Given the description of an element on the screen output the (x, y) to click on. 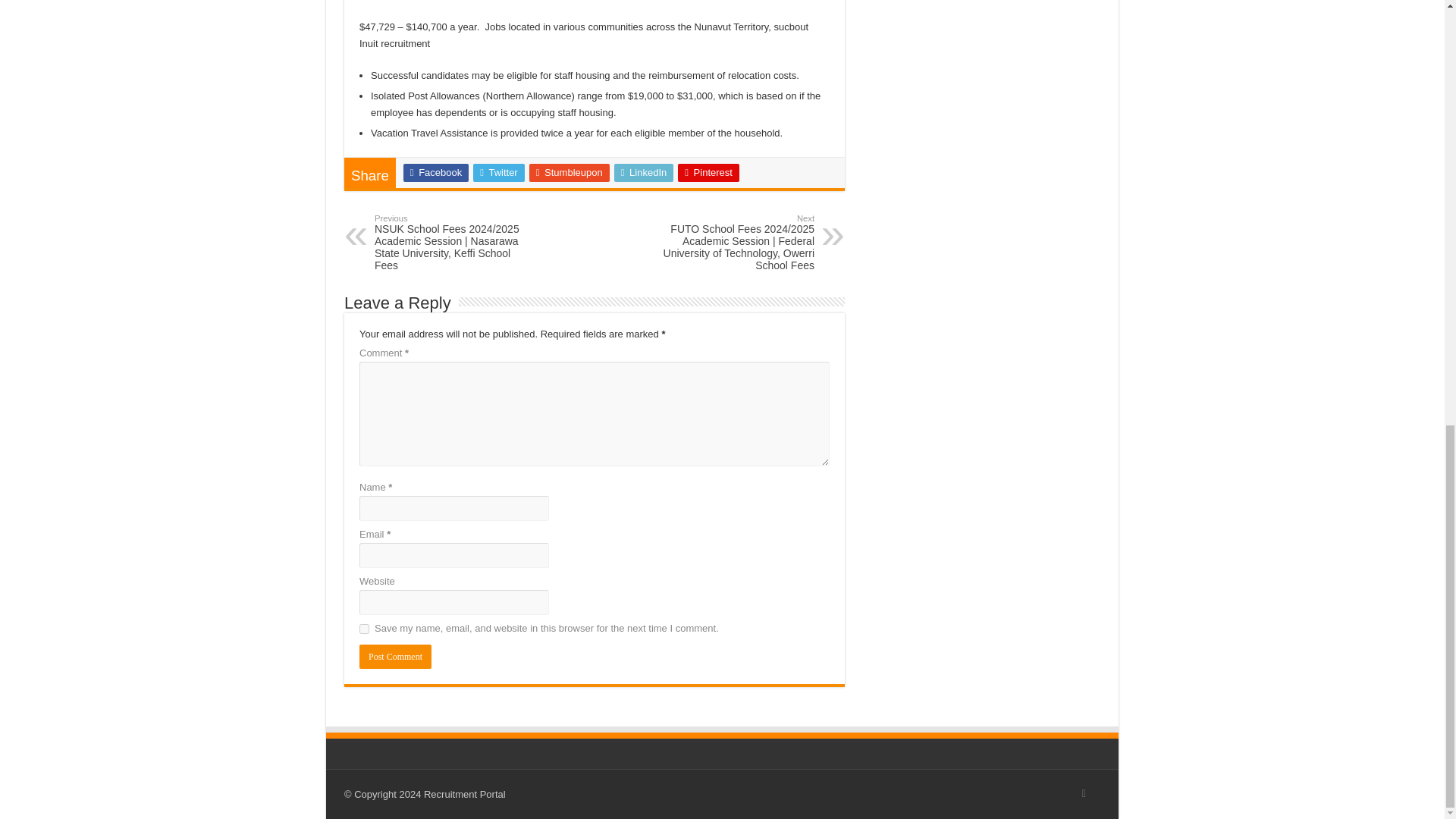
Twitter (498, 172)
Scroll To Top (1421, 3)
Stumbleupon (569, 172)
LinkedIn (644, 172)
Pinterest (708, 172)
Post Comment (394, 656)
yes (364, 628)
Facebook (435, 172)
Post Comment (394, 656)
